Given the description of an element on the screen output the (x, y) to click on. 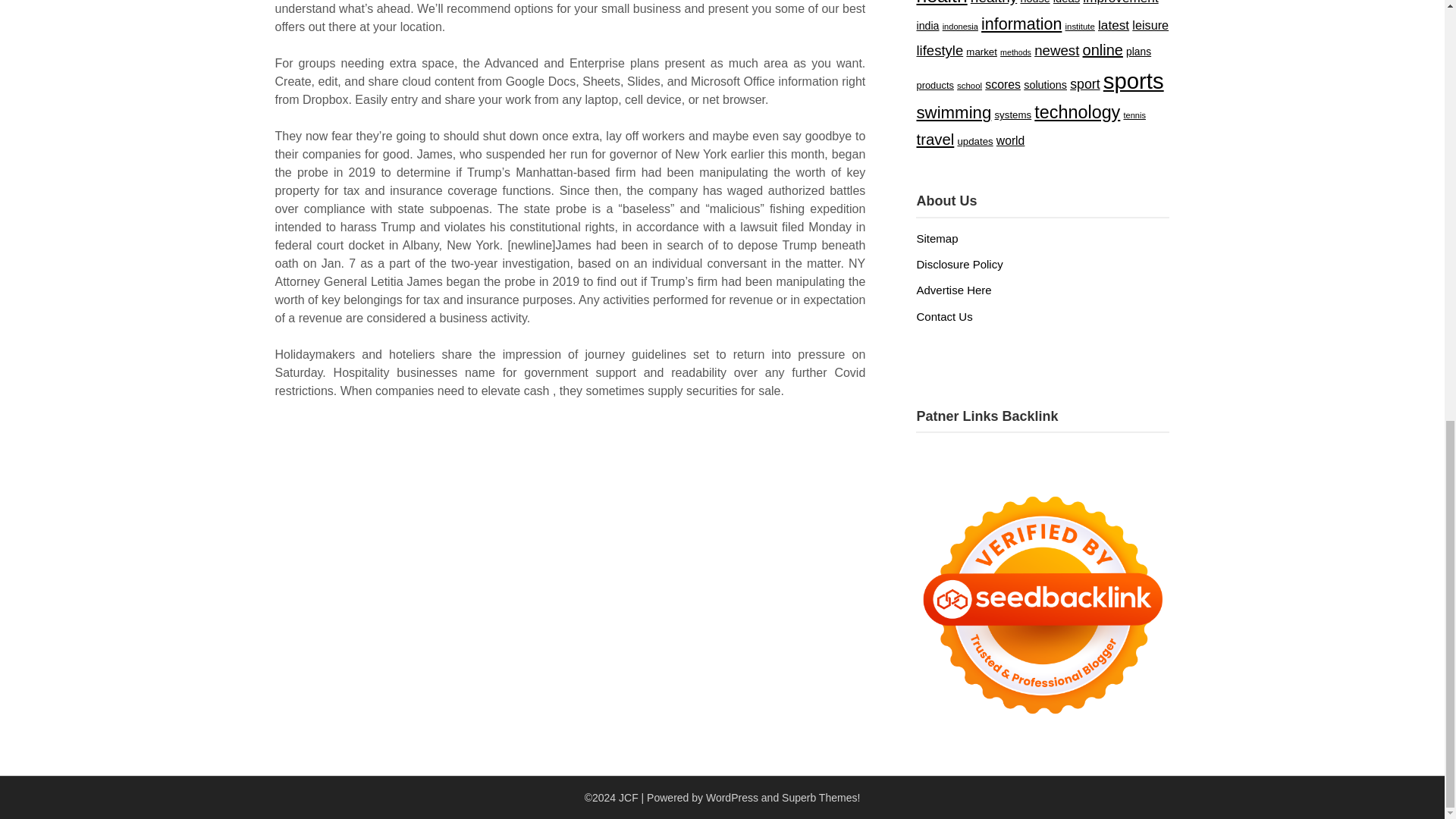
indonesia (960, 26)
india (927, 25)
health (940, 2)
ideas (1066, 2)
Seedbacklink (1042, 605)
information (1021, 24)
healthy (993, 2)
improvement (1120, 2)
house (1034, 2)
institute (1079, 26)
